Given the description of an element on the screen output the (x, y) to click on. 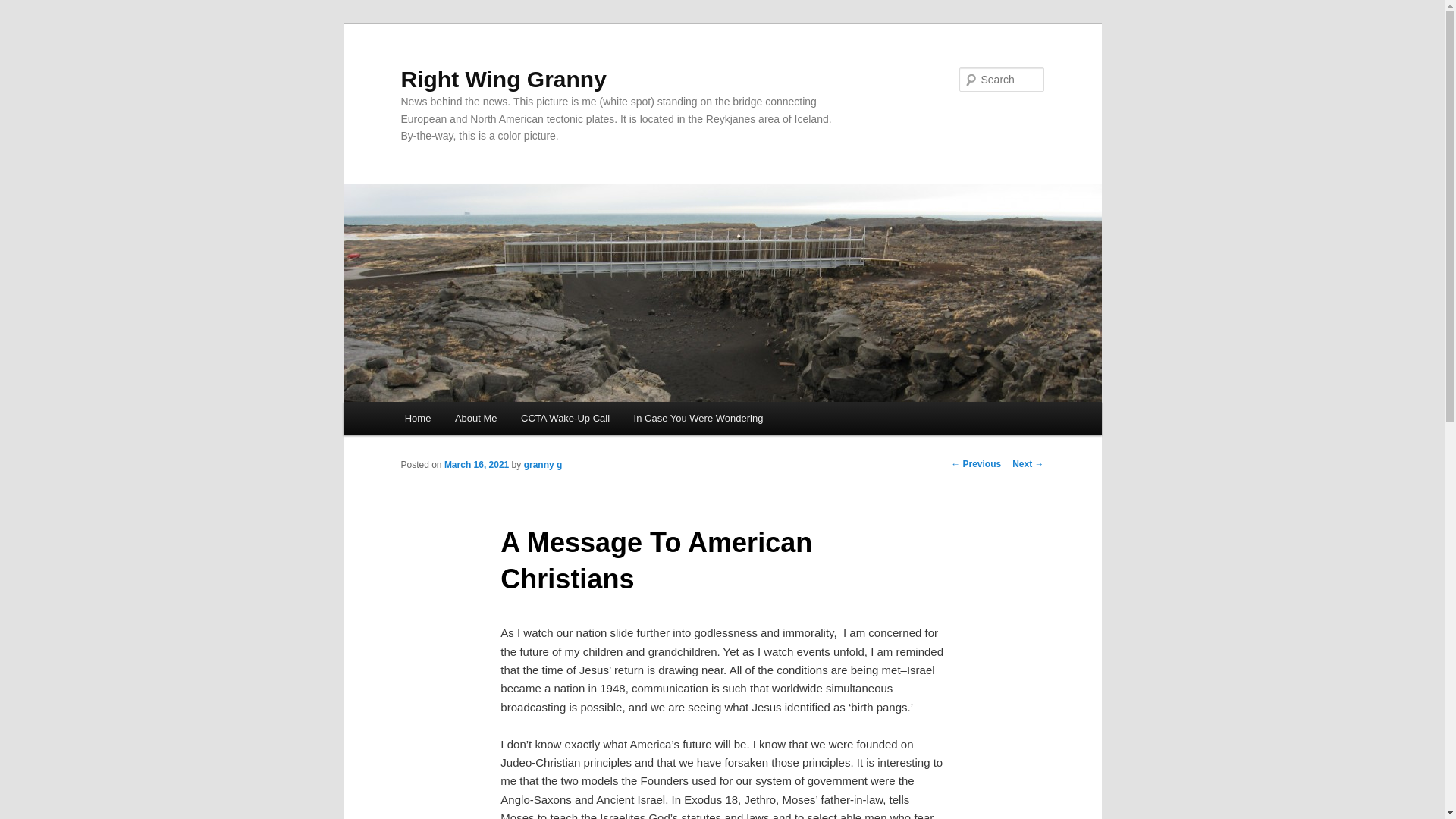
Right Wing Granny (502, 78)
granny g (543, 464)
CCTA Wake-Up Call (564, 418)
In Case You Were Wondering (697, 418)
View all posts by granny g (543, 464)
2:23 pm (476, 464)
March 16, 2021 (476, 464)
Home (417, 418)
Search (24, 8)
About Me (475, 418)
